Given the description of an element on the screen output the (x, y) to click on. 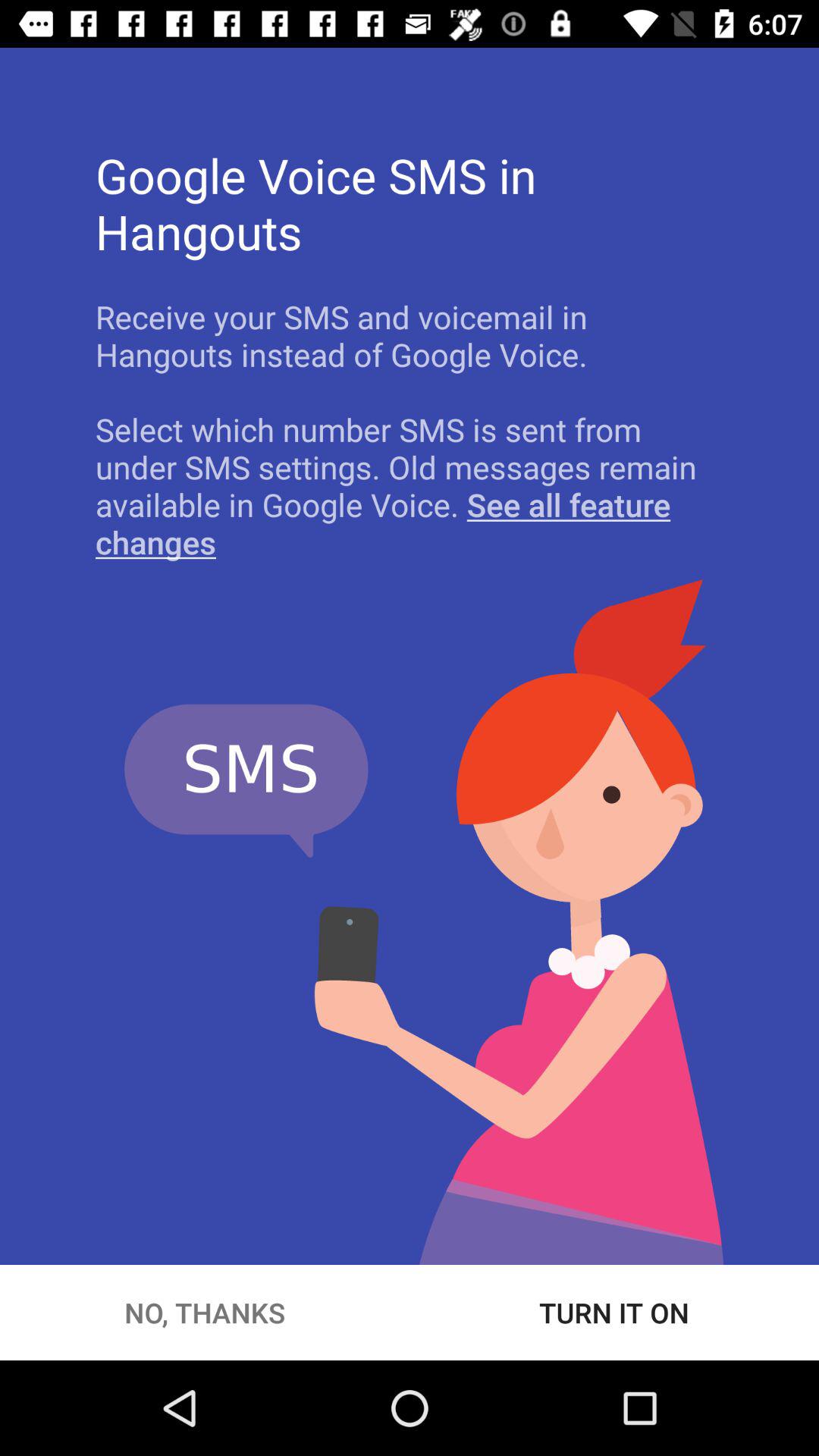
press turn it on item (614, 1312)
